Given the description of an element on the screen output the (x, y) to click on. 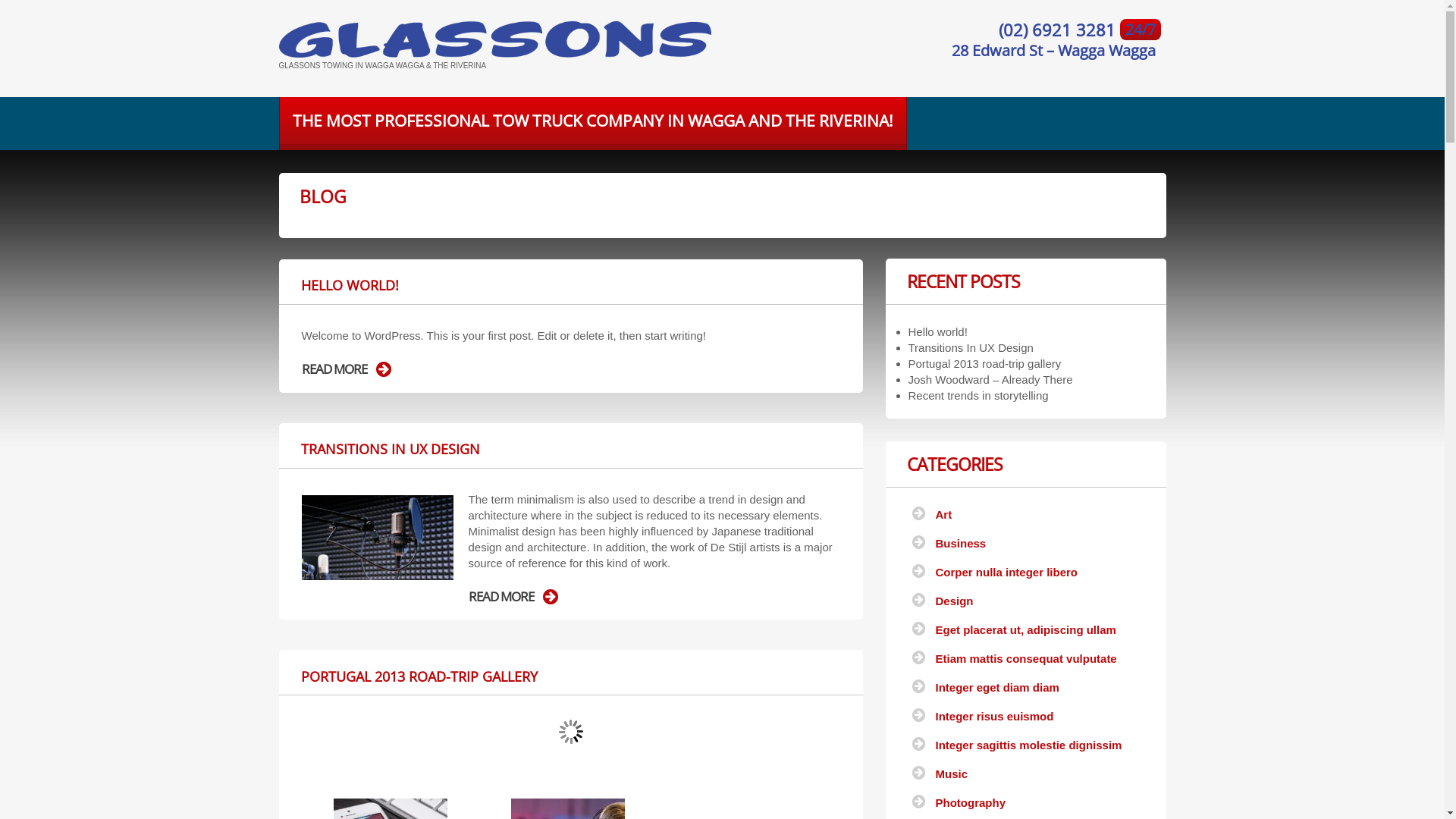
Integer risus euismod Element type: text (994, 715)
Eget placerat ut, adipiscing ullam Element type: text (1025, 629)
Photography Element type: text (970, 802)
Design Element type: text (954, 600)
Glassons Towing in Wagga Wagga & the Riverina Element type: hover (495, 38)
READ MORE Element type: text (513, 596)
Corper nulla integer libero Element type: text (1006, 571)
Transitions In UX Design Element type: text (970, 347)
Business Element type: text (960, 542)
(02) 6921 3281 Element type: text (1058, 29)
HELLO WORLD! Element type: text (349, 285)
Art Element type: text (943, 514)
Music Element type: text (951, 773)
PORTUGAL 2013 ROAD-TRIP GALLERY Element type: text (418, 676)
Integer eget diam diam Element type: text (997, 686)
READ MORE Element type: text (346, 368)
Integer sagittis molestie dignissim Element type: text (1028, 744)
Recent trends in storytelling Element type: text (978, 395)
Portugal 2013 road-trip gallery Element type: text (984, 363)
Hello world! Element type: text (937, 331)
TRANSITIONS IN UX DESIGN Element type: text (389, 448)
Etiam mattis consequat vulputate Element type: text (1026, 658)
